Given the description of an element on the screen output the (x, y) to click on. 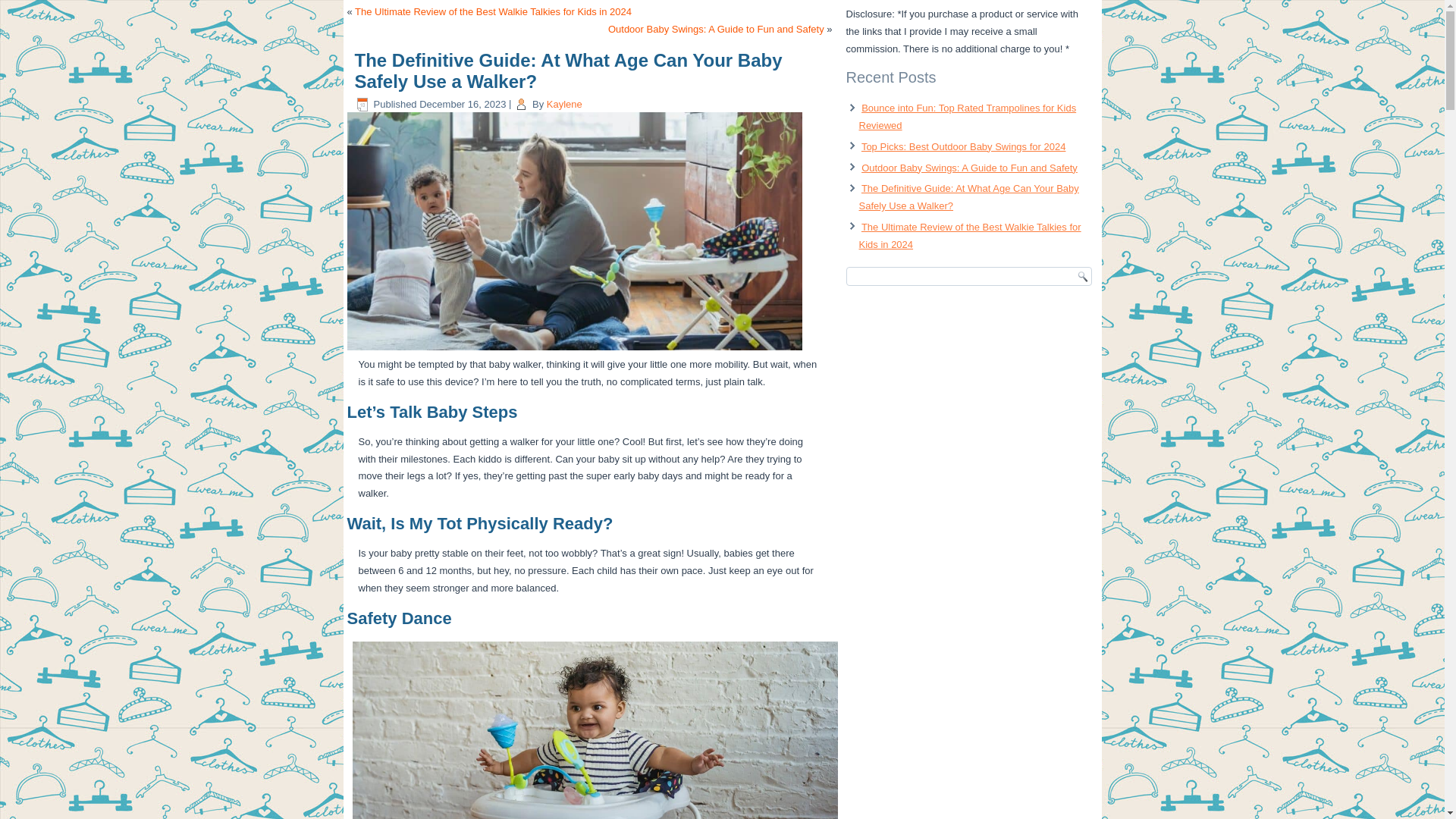
Bounce into Fun: Top Rated Trampolines for Kids Reviewed (967, 116)
Outdoor Baby Swings: A Guide to Fun and Safety (716, 29)
5:32 pm (462, 103)
Top Picks: Best Outdoor Baby Swings for 2024 (963, 146)
Outdoor Baby Swings: A Guide to Fun and Safety (969, 167)
Outdoor Baby Swings: A Guide to Fun and Safety (716, 29)
View all posts by Kaylene (564, 103)
Kaylene (564, 103)
